Given the description of an element on the screen output the (x, y) to click on. 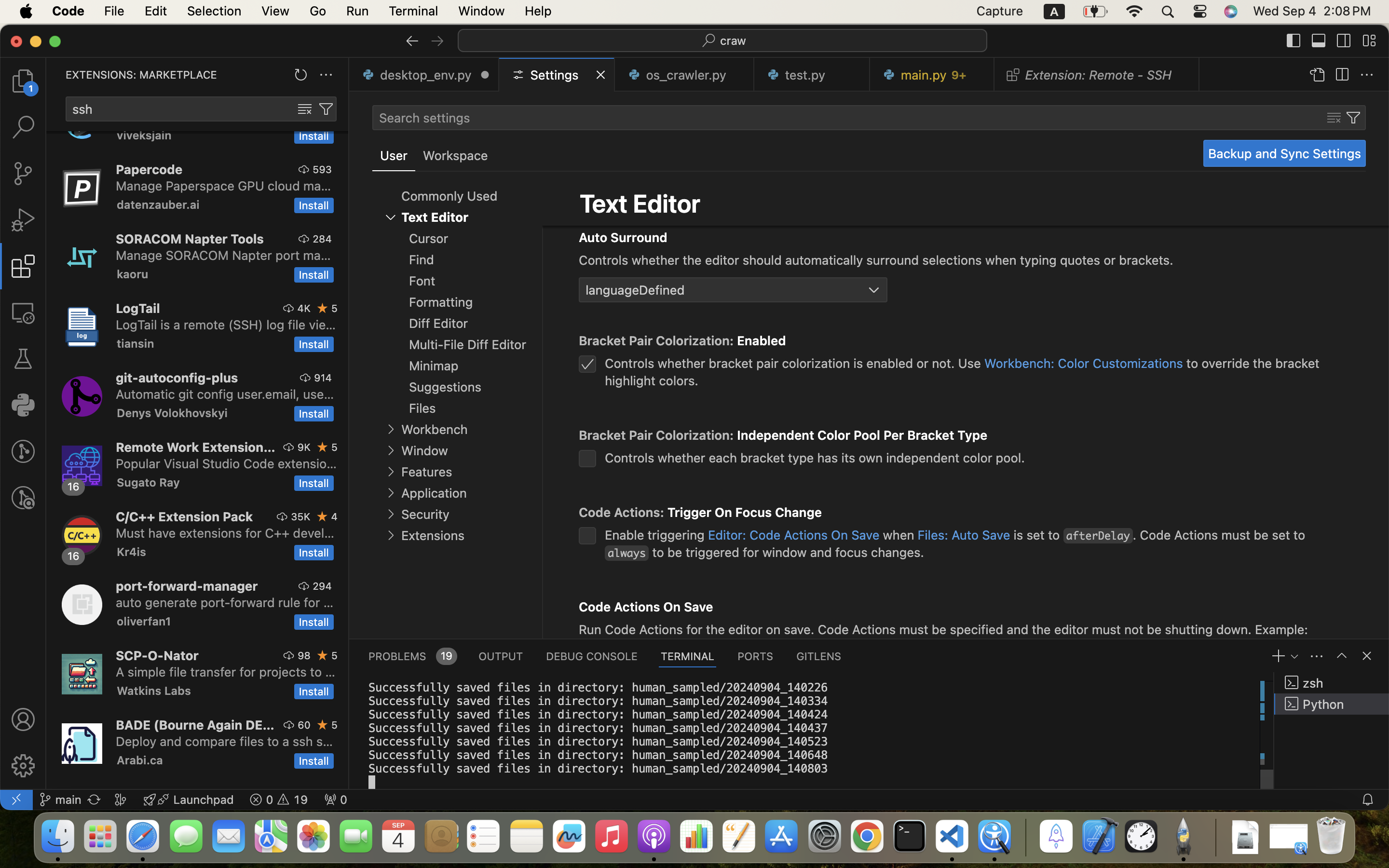
Formatting Element type: AXStaticText (440, 302)
 Element type: AXGroup (23, 358)
Bracket Pair Colorization: Element type: AXStaticText (657, 340)
0 Element type: AXRadioButton (454, 155)
1  Element type: AXRadioButton (23, 266)
